Given the description of an element on the screen output the (x, y) to click on. 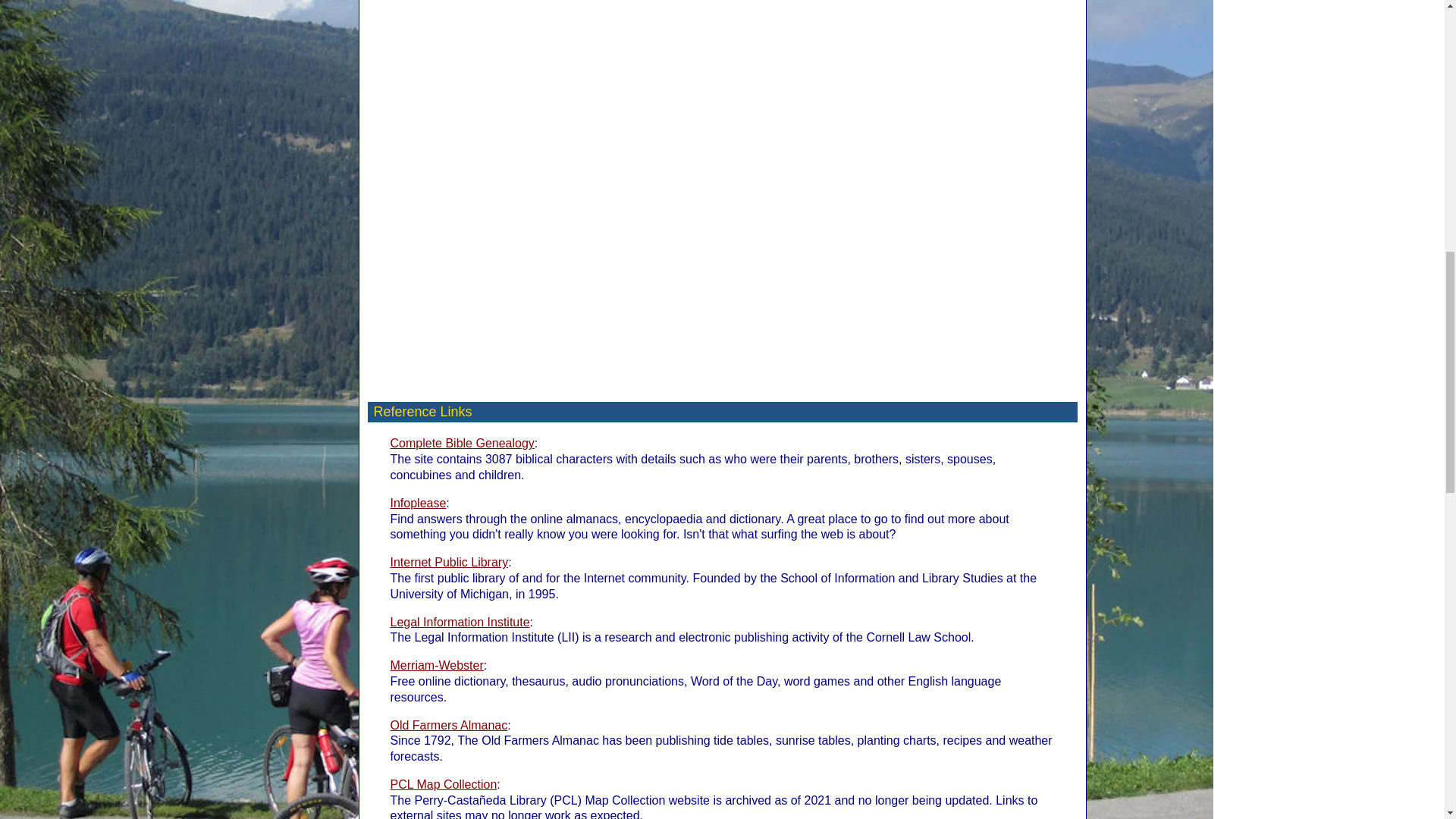
PCL Map Collection (443, 784)
Old Farmers Almanac (448, 725)
Merriam-Webster (436, 665)
Legal Information Institute (459, 621)
Infoplease (417, 502)
Internet Public Library (449, 562)
Complete Bible Genealogy (462, 442)
